Given the description of an element on the screen output the (x, y) to click on. 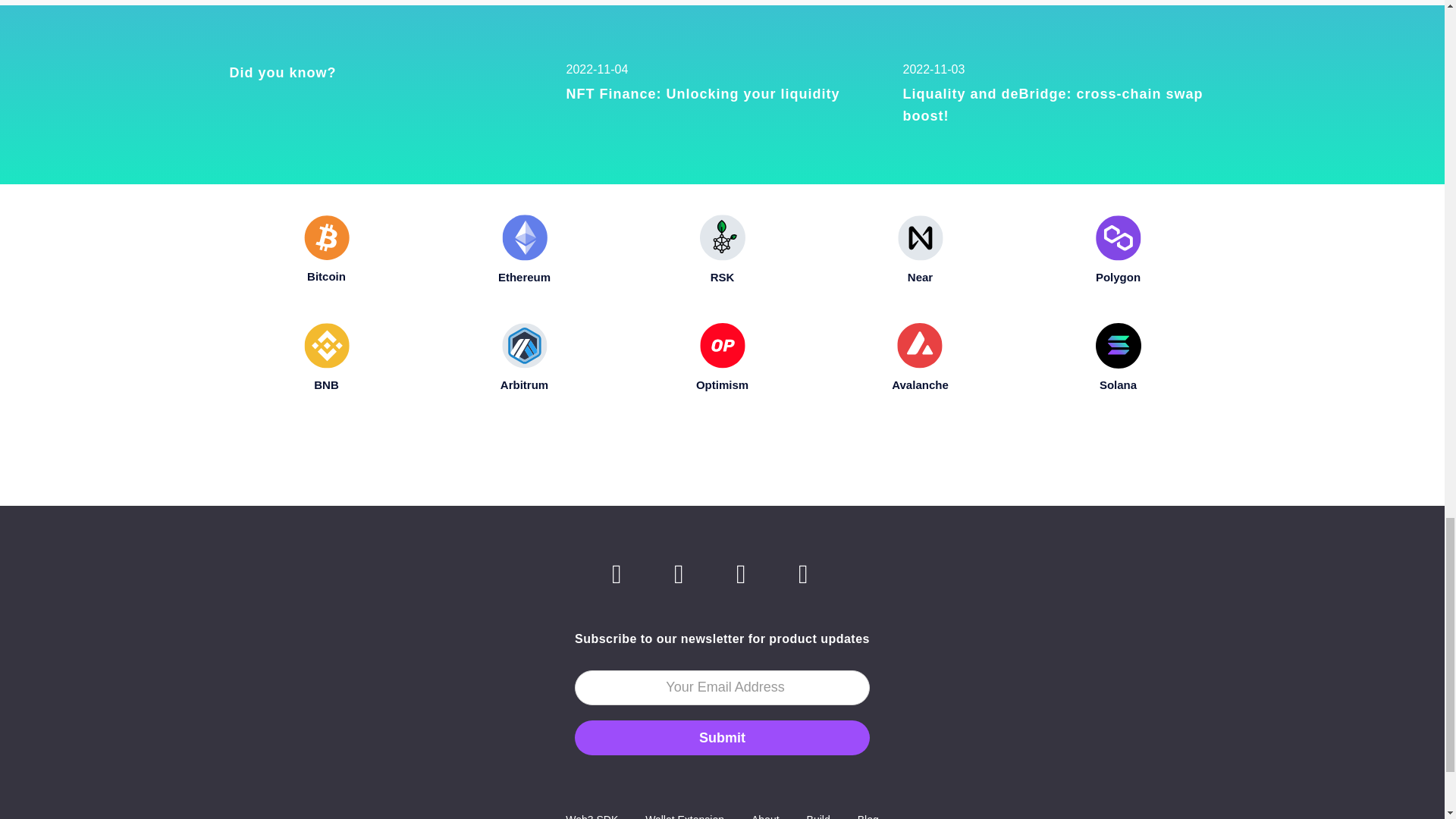
Submit (721, 94)
Submit (1058, 94)
